Given the description of an element on the screen output the (x, y) to click on. 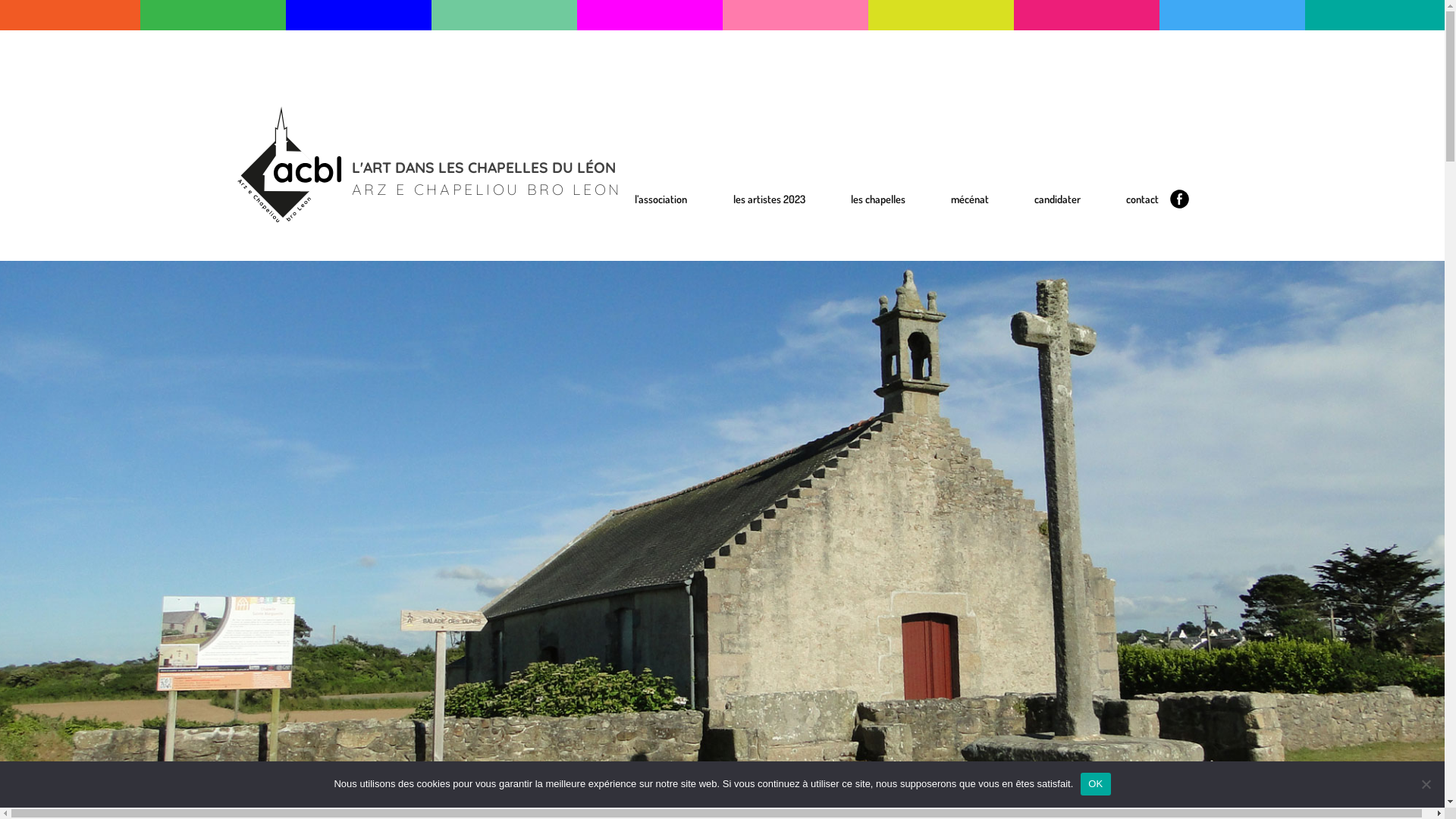
les chapelles Element type: text (877, 199)
contact Element type: text (1142, 199)
les artistes 2023 Element type: text (769, 199)
Non Element type: hover (1425, 783)
candidater Element type: text (1057, 199)
OK Element type: text (1095, 782)
